Given the description of an element on the screen output the (x, y) to click on. 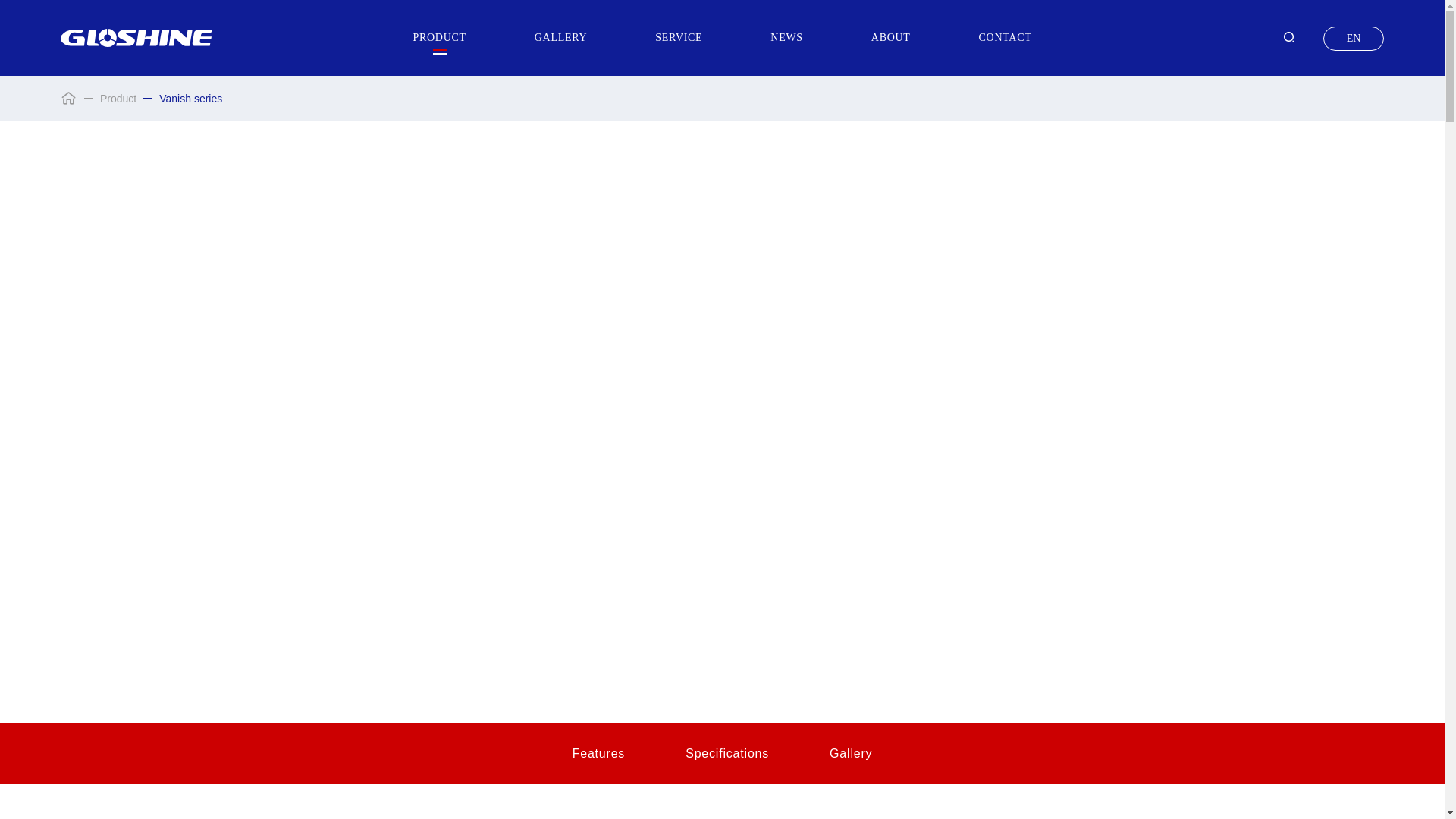
SERVICE (678, 37)
GALLERY (560, 37)
NEWS (786, 37)
ABOUT (890, 37)
EN (1353, 38)
CONTACT (1005, 37)
PRODUCT (439, 37)
